Given the description of an element on the screen output the (x, y) to click on. 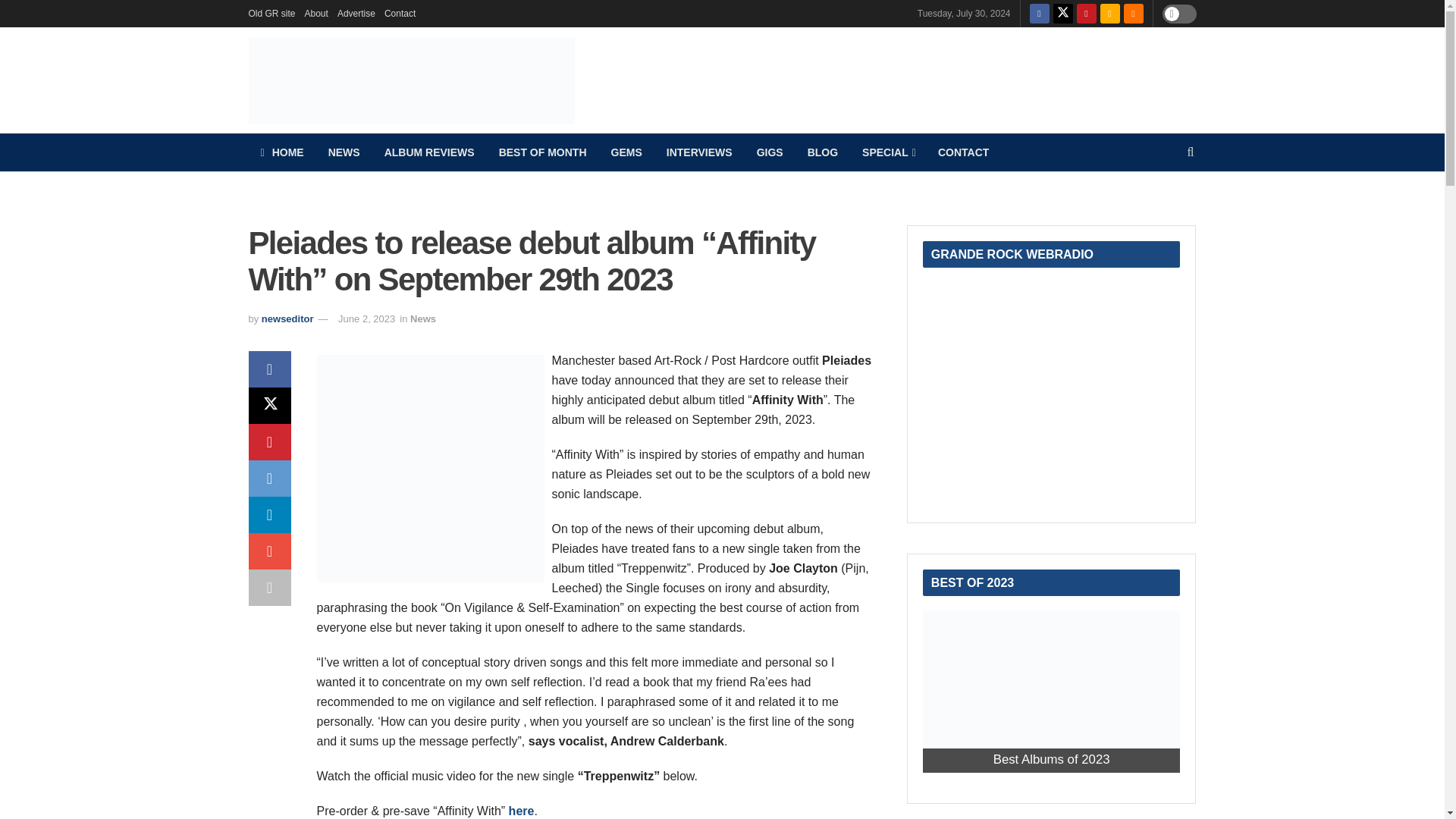
CONTACT (963, 152)
NEWS (343, 152)
Advertise (356, 13)
GEMS (625, 152)
INTERVIEWS (698, 152)
SPECIAL (888, 152)
HOME (281, 152)
BEST OF MONTH (542, 152)
ALBUM REVIEWS (429, 152)
Contact (399, 13)
Old GR site (271, 13)
GIGS (769, 152)
BLOG (822, 152)
